Given the description of an element on the screen output the (x, y) to click on. 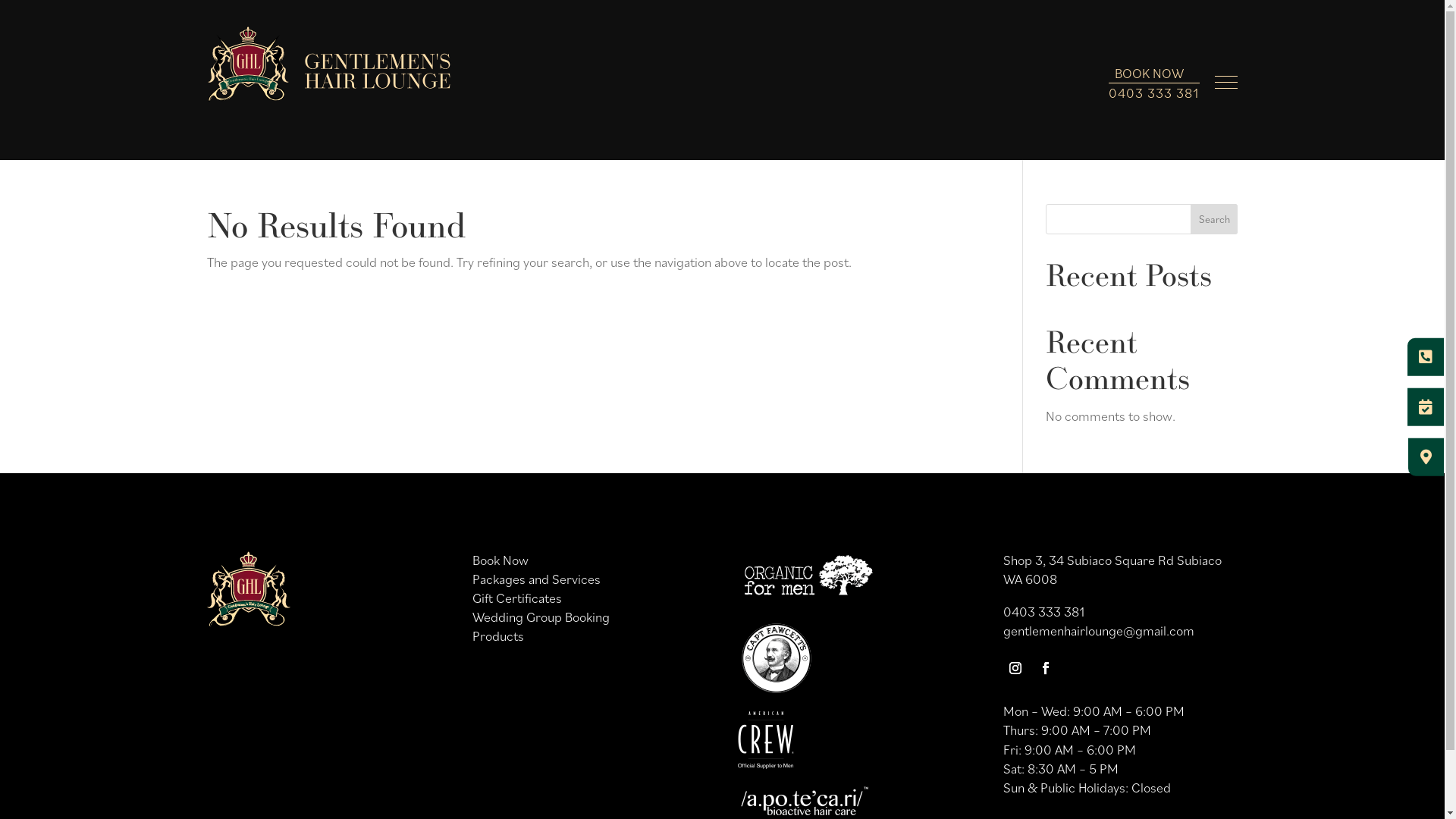
WA 6008 Element type: text (1030, 578)
0403 333 381 Element type: text (1153, 92)
Book Now Element type: text (500, 559)
0403 333 381 Element type: text (1043, 611)
Follow on Instagram Element type: hover (1015, 667)
Asset 6 Element type: hover (804, 800)
Packages and Services Element type: text (536, 578)
Wedding Group Booking Element type: text (540, 616)
Asset 4 Element type: hover (775, 658)
Follow on Facebook Element type: hover (1045, 667)
Shop 3, 34 Subiaco Square Rd Subiaco Element type: text (1112, 559)
Asset 3 Element type: hover (807, 577)
gentlemenhairlounge@gmail.com Element type: text (1098, 630)
Products Element type: text (498, 635)
Search Element type: text (1214, 218)
Gift Certificates Element type: text (516, 597)
BOOK NOW Element type: text (1148, 72)
logo-none Element type: hover (247, 588)
Asset 5 Element type: hover (765, 739)
